Given the description of an element on the screen output the (x, y) to click on. 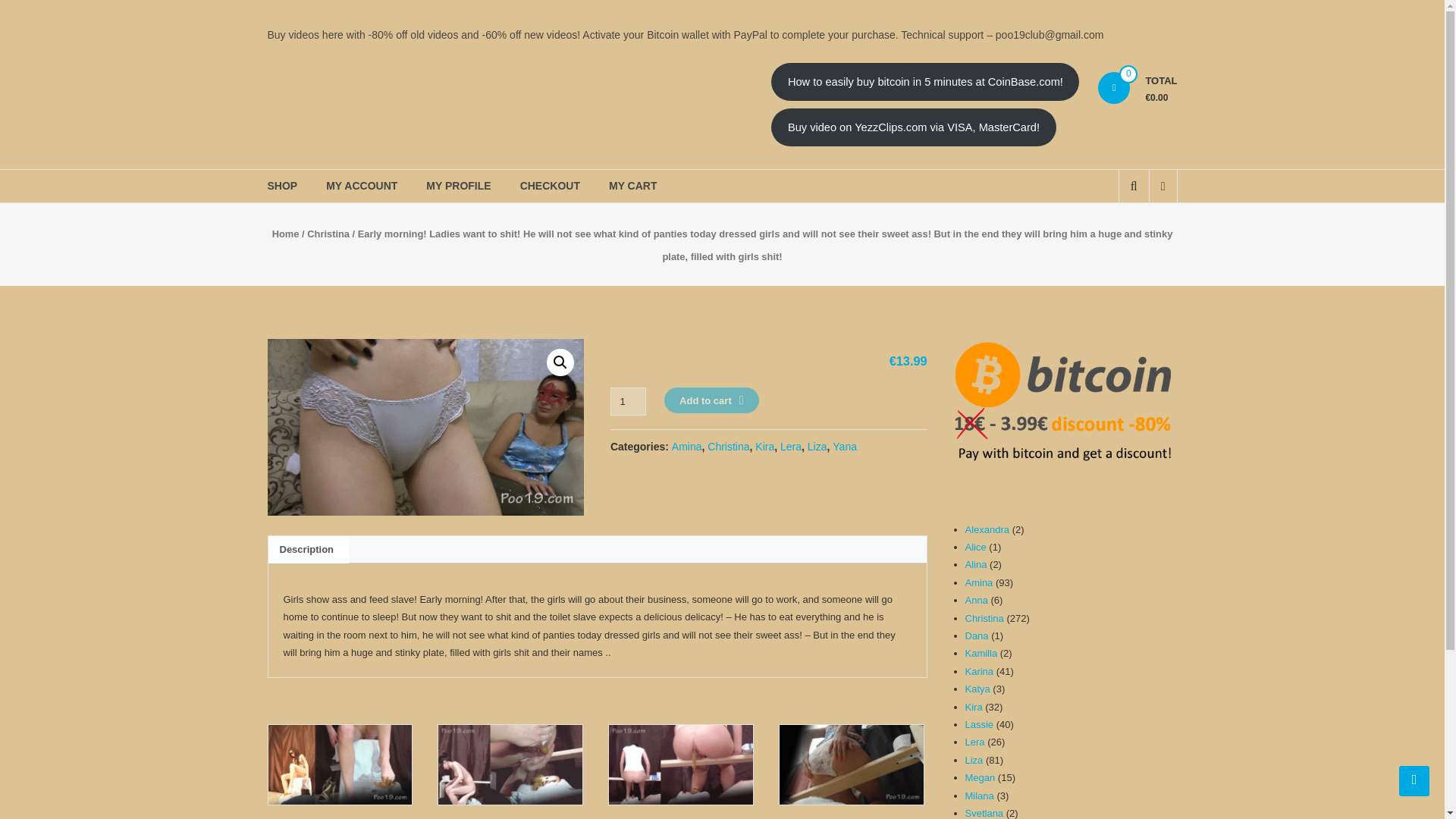
CHECKOUT (549, 185)
How to easily buy bitcoin in 5 minutes at CoinBase.com! (924, 81)
Christina (728, 446)
Yana (844, 446)
Amina (686, 446)
0 (1113, 88)
MY ACCOUNT (361, 185)
Liza (817, 446)
1 (628, 401)
SHOP (281, 185)
Description (306, 549)
Lera (791, 446)
MY CART (633, 185)
Home (285, 233)
Search (1121, 237)
